Given the description of an element on the screen output the (x, y) to click on. 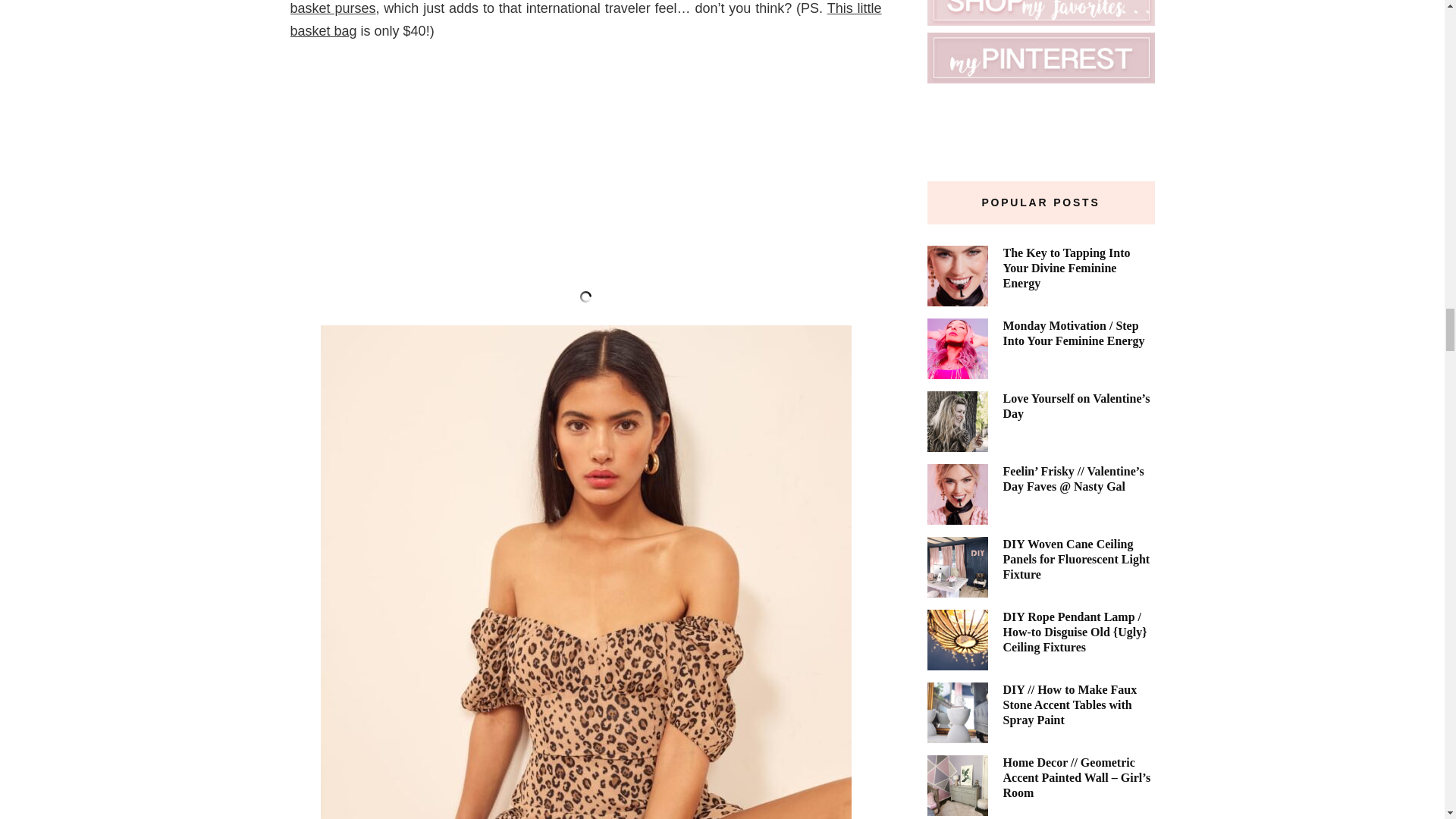
little woven bags or wicker basket purses (584, 8)
This little basket bag (584, 19)
